Given the description of an element on the screen output the (x, y) to click on. 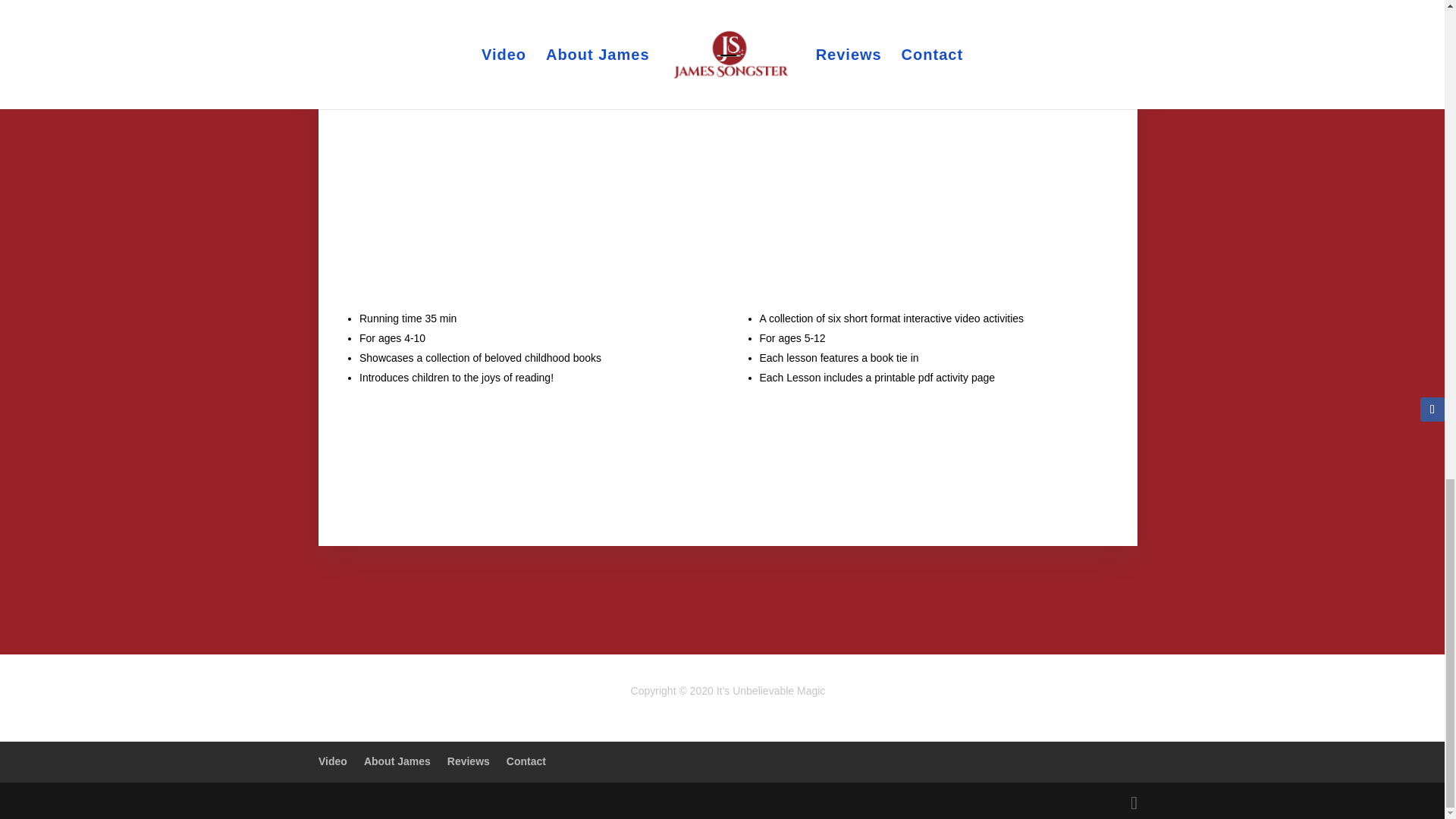
Reviews (467, 761)
About James (397, 761)
Magically Ever After - The Trailer - HD 720p (528, 186)
MAKER MAGIC - the Trailer (928, 186)
Contact (526, 761)
Video (332, 761)
